Given the description of an element on the screen output the (x, y) to click on. 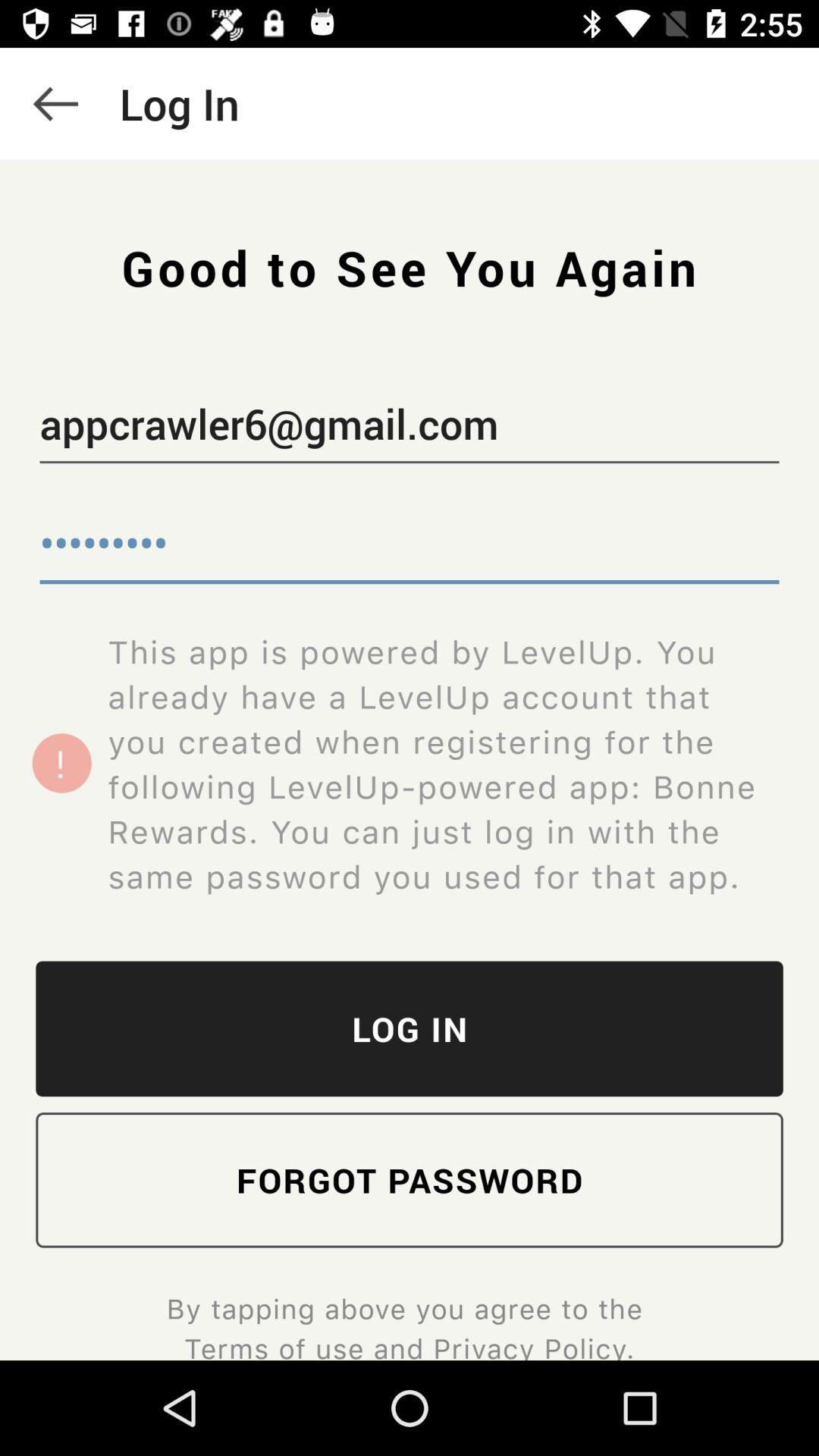
turn off forgot password icon (409, 1179)
